Given the description of an element on the screen output the (x, y) to click on. 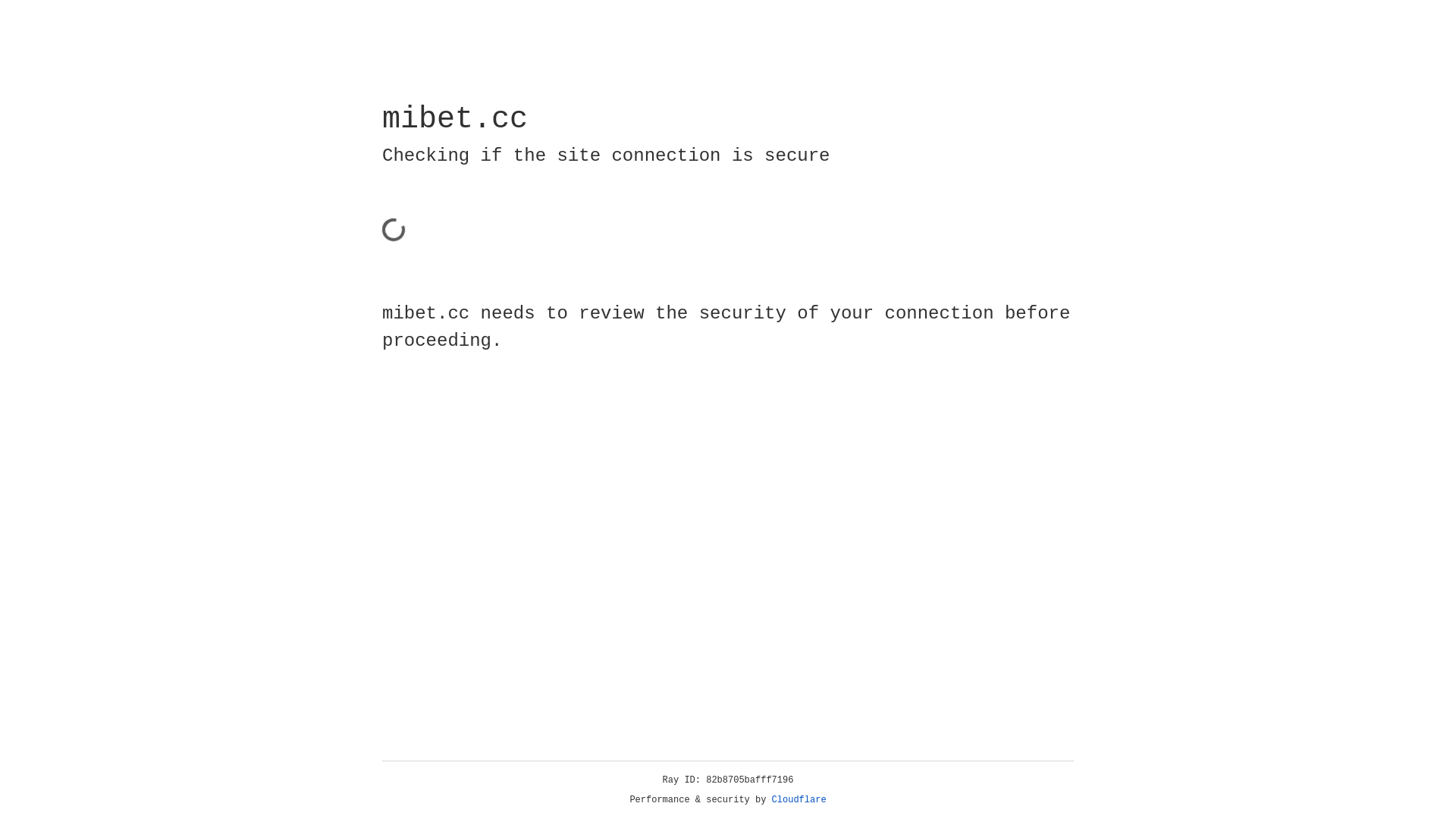
Cloudflare Element type: text (798, 799)
